Given the description of an element on the screen output the (x, y) to click on. 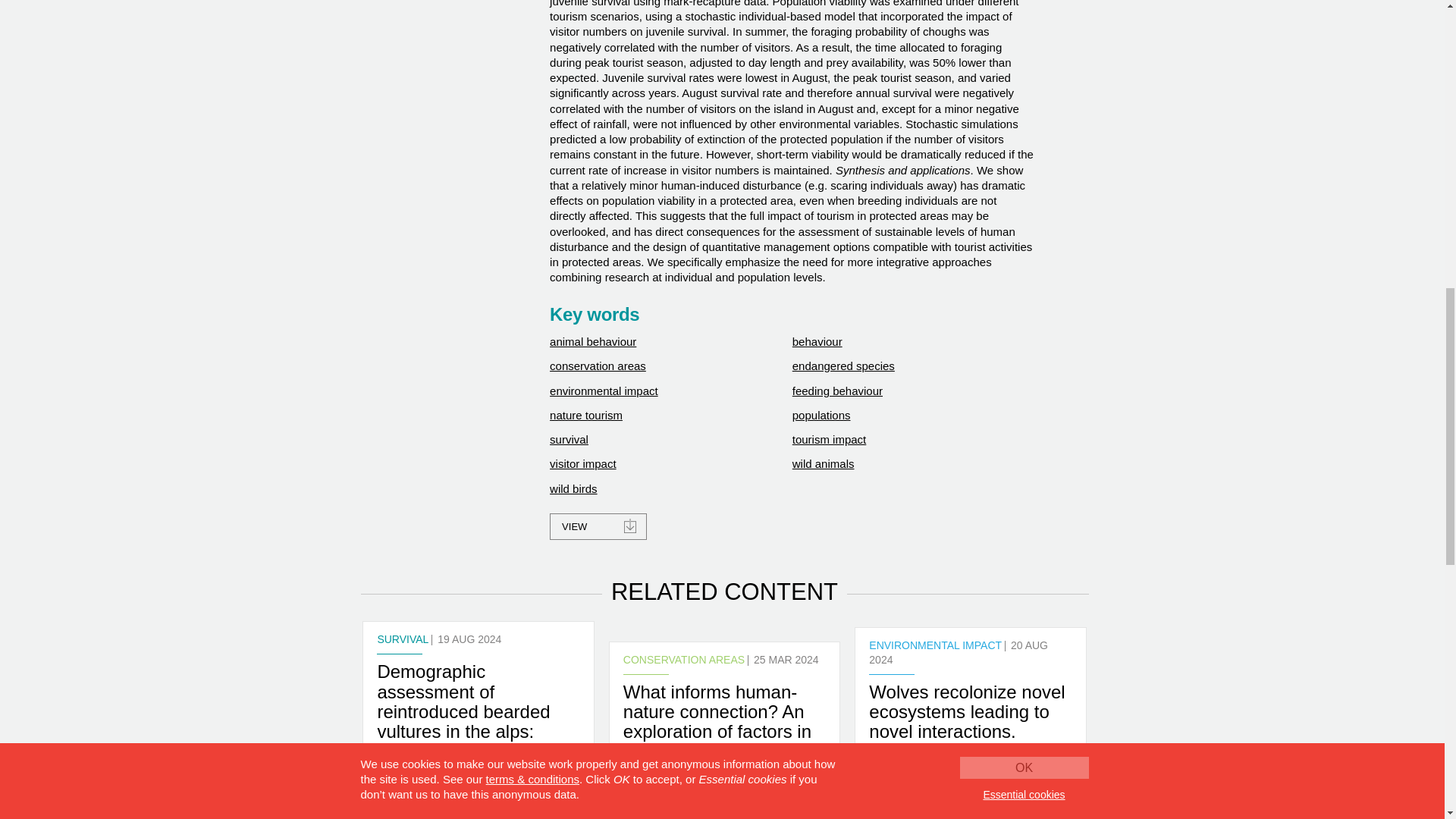
animal behaviour (593, 341)
behaviour (817, 341)
endangered species (843, 365)
conservation areas (598, 365)
